Given the description of an element on the screen output the (x, y) to click on. 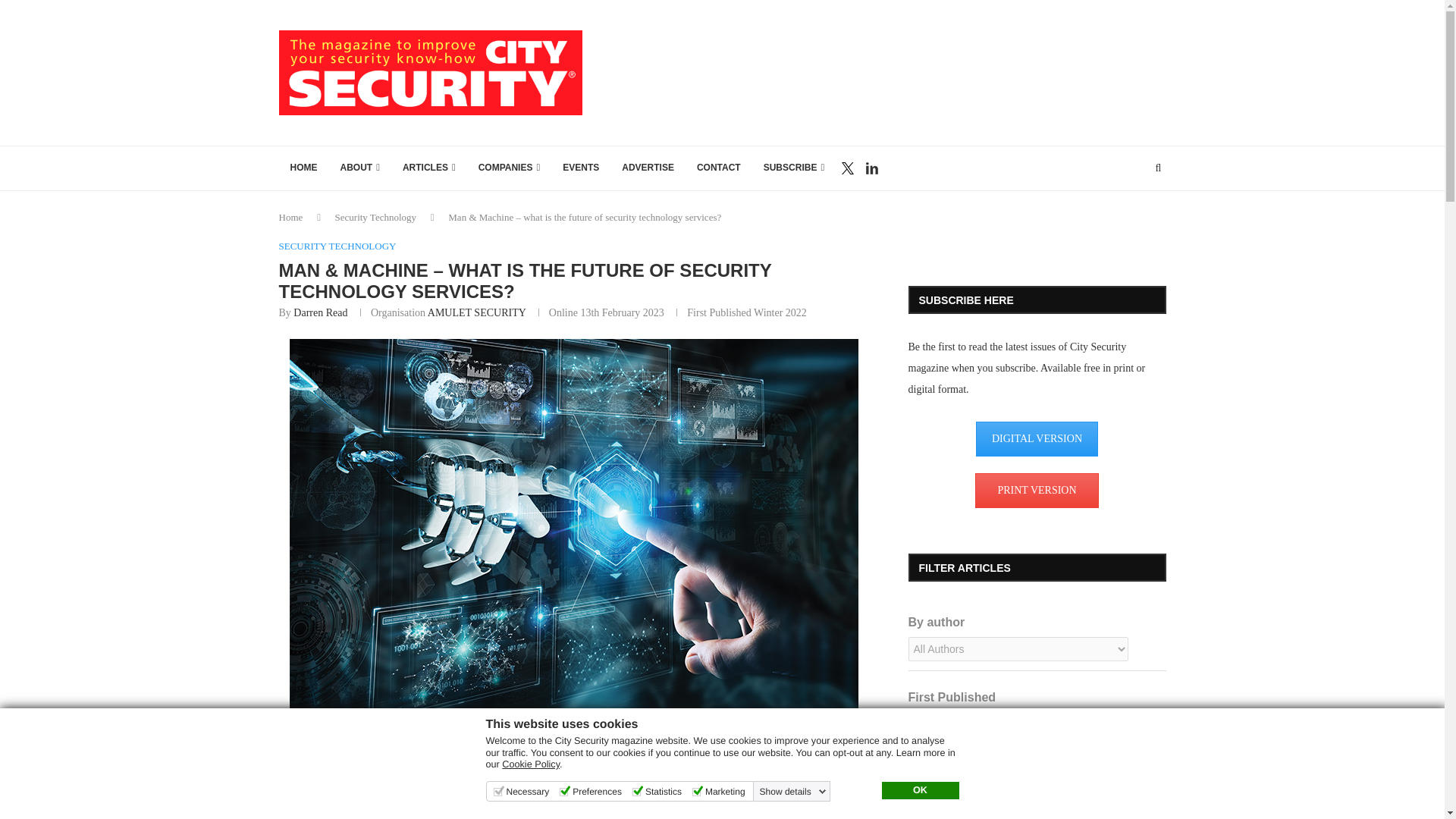
Cookie Policy (530, 764)
Show details (793, 791)
OK (919, 791)
